Given the description of an element on the screen output the (x, y) to click on. 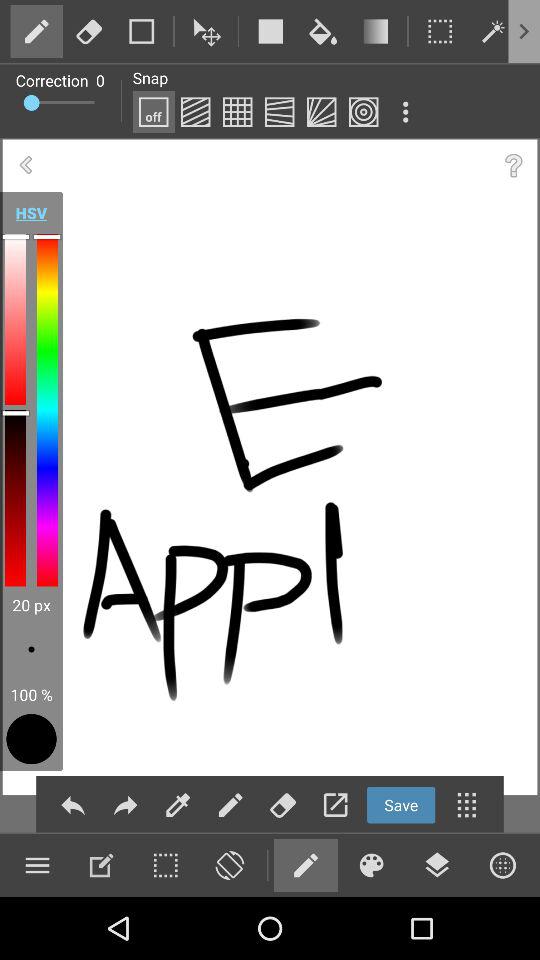
snap to grid off (153, 112)
